Given the description of an element on the screen output the (x, y) to click on. 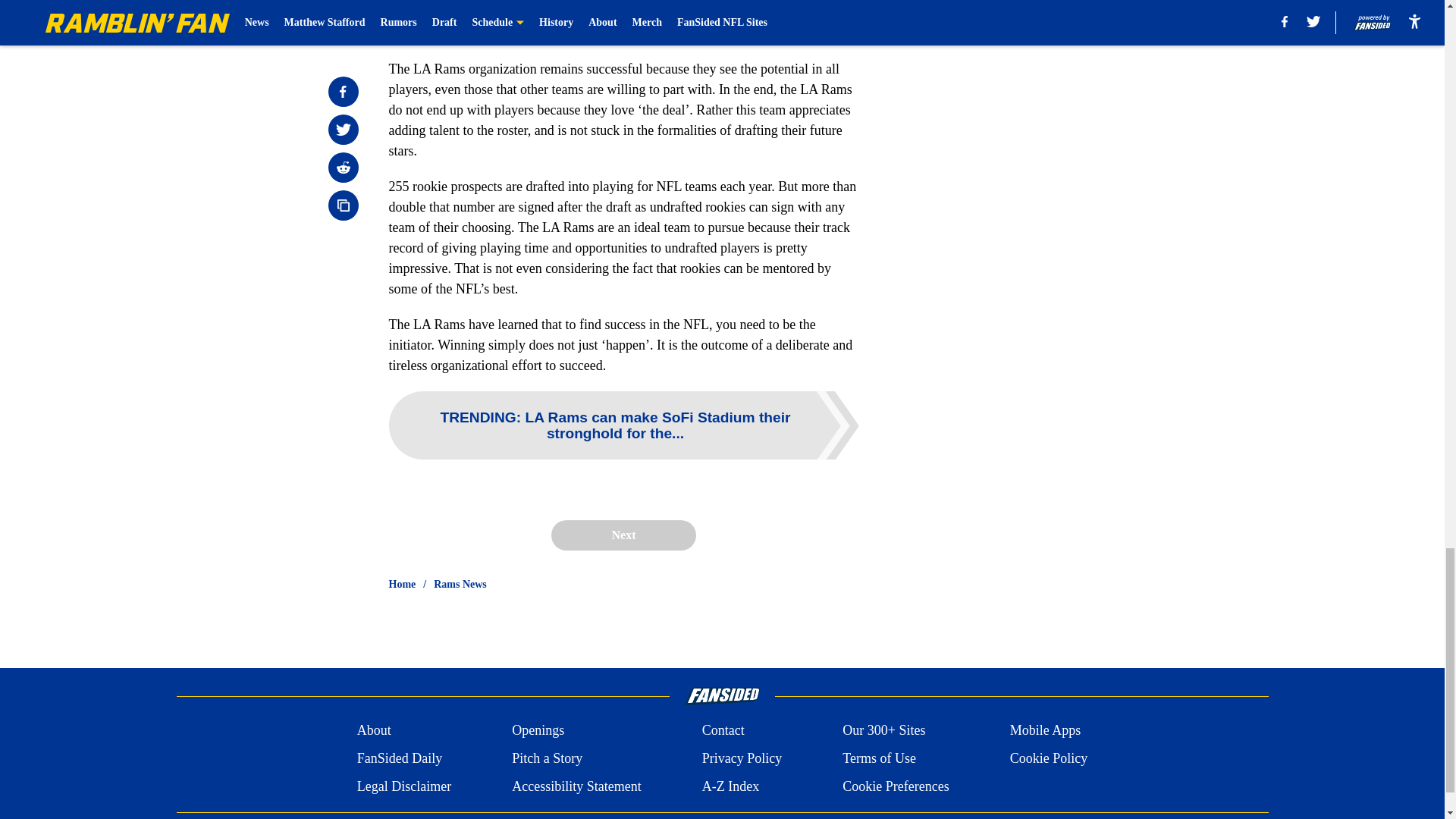
Privacy Policy (742, 758)
Openings (538, 730)
Pitch a Story (547, 758)
About (373, 730)
Mobile Apps (1045, 730)
Rams News (459, 584)
Home (401, 584)
Next (622, 535)
Contact (722, 730)
